Given the description of an element on the screen output the (x, y) to click on. 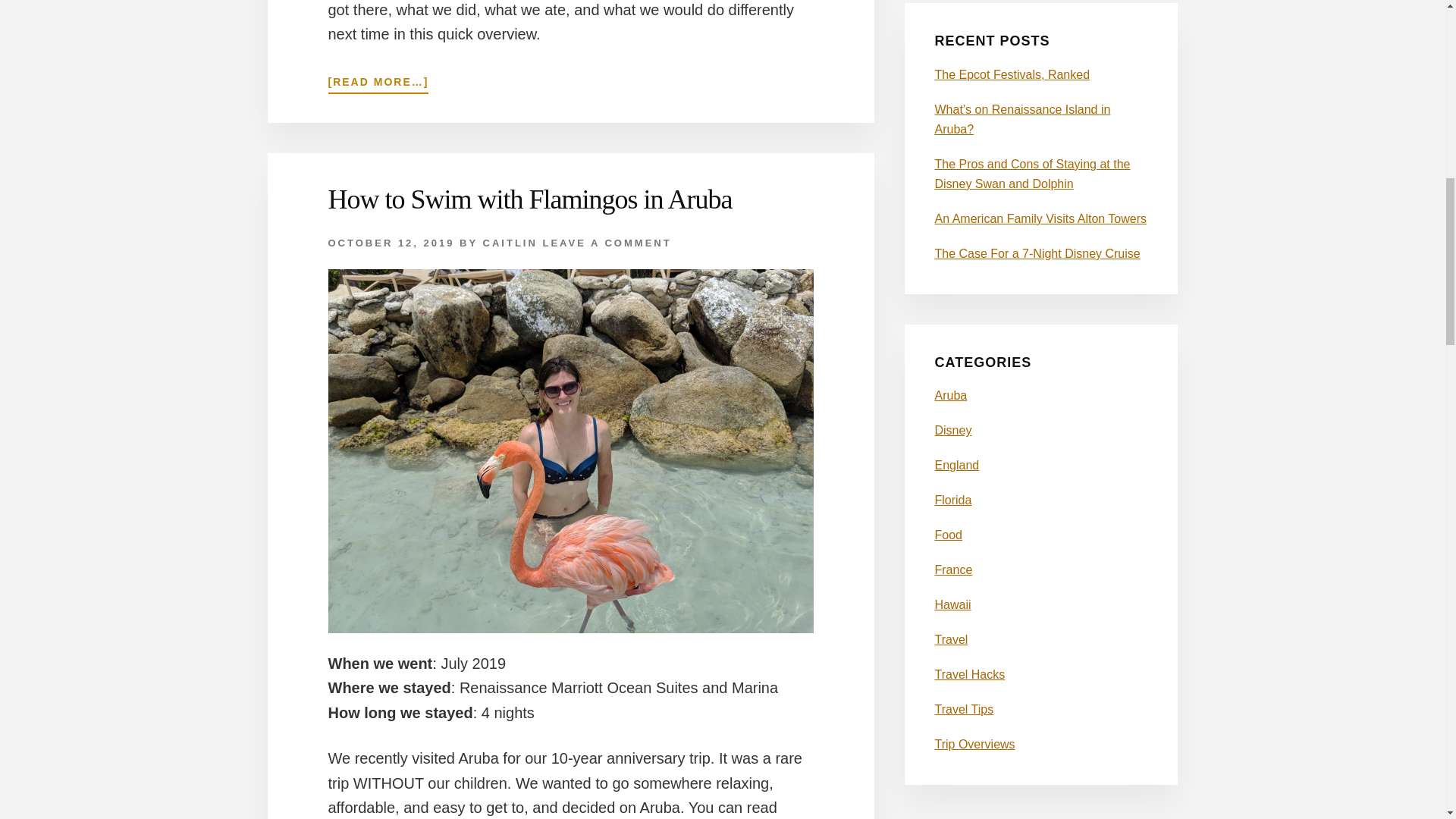
The Case For a 7-Night Disney Cruise (1037, 253)
England (956, 464)
Aruba (950, 395)
The Epcot Festivals, Ranked (1011, 74)
An American Family Visits Alton Towers (1040, 218)
CAITLIN (510, 242)
How to Swim with Flamingos in Aruba (529, 199)
Disney (952, 430)
LEAVE A COMMENT (606, 242)
The Pros and Cons of Staying at the Disney Swan and Dolphin (1031, 174)
